Given the description of an element on the screen output the (x, y) to click on. 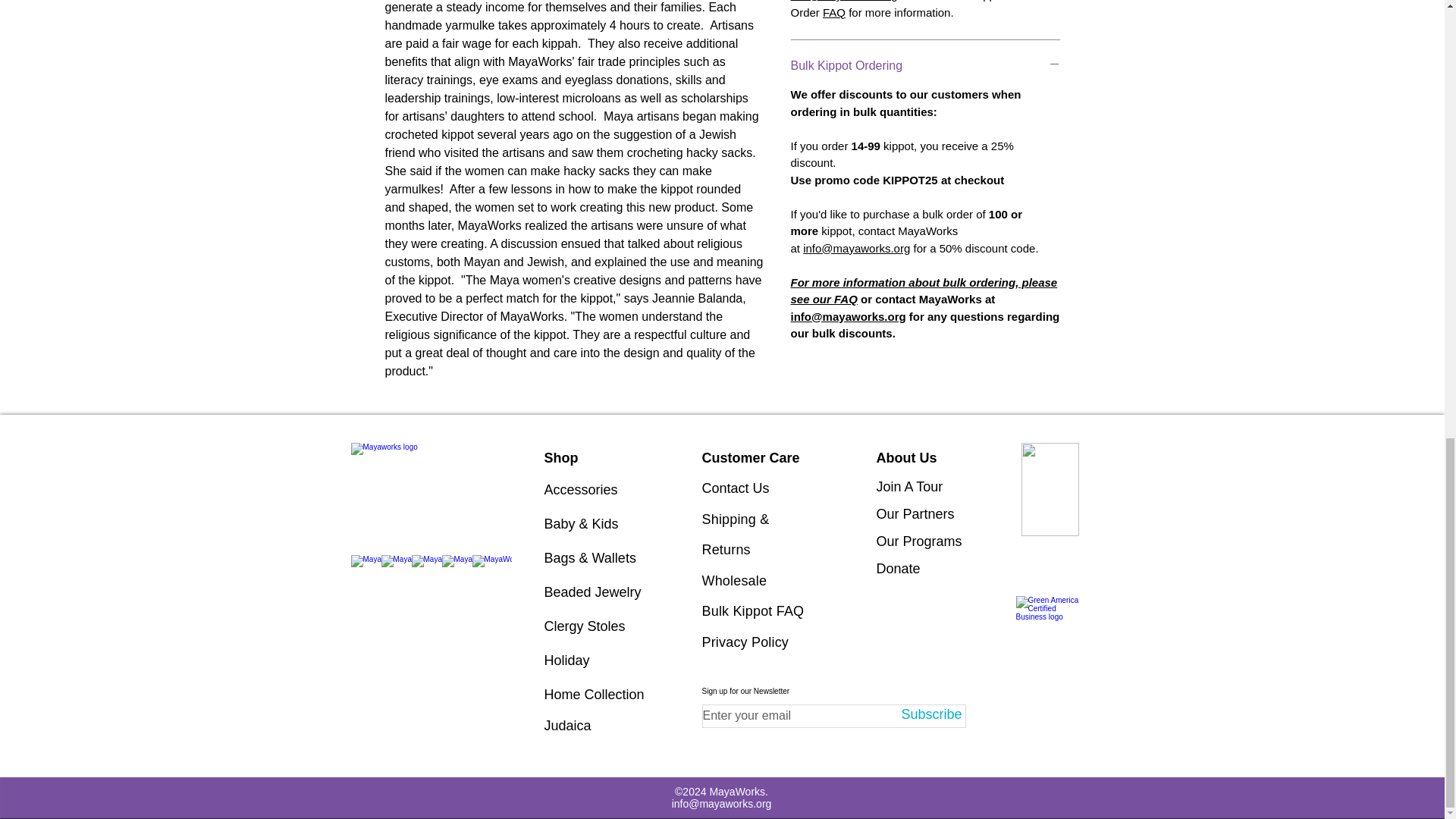
Bulk Kippot Ordering (924, 65)
For more information about bulk ordering, please see our FAQ (923, 291)
FAQ (833, 11)
